Given the description of an element on the screen output the (x, y) to click on. 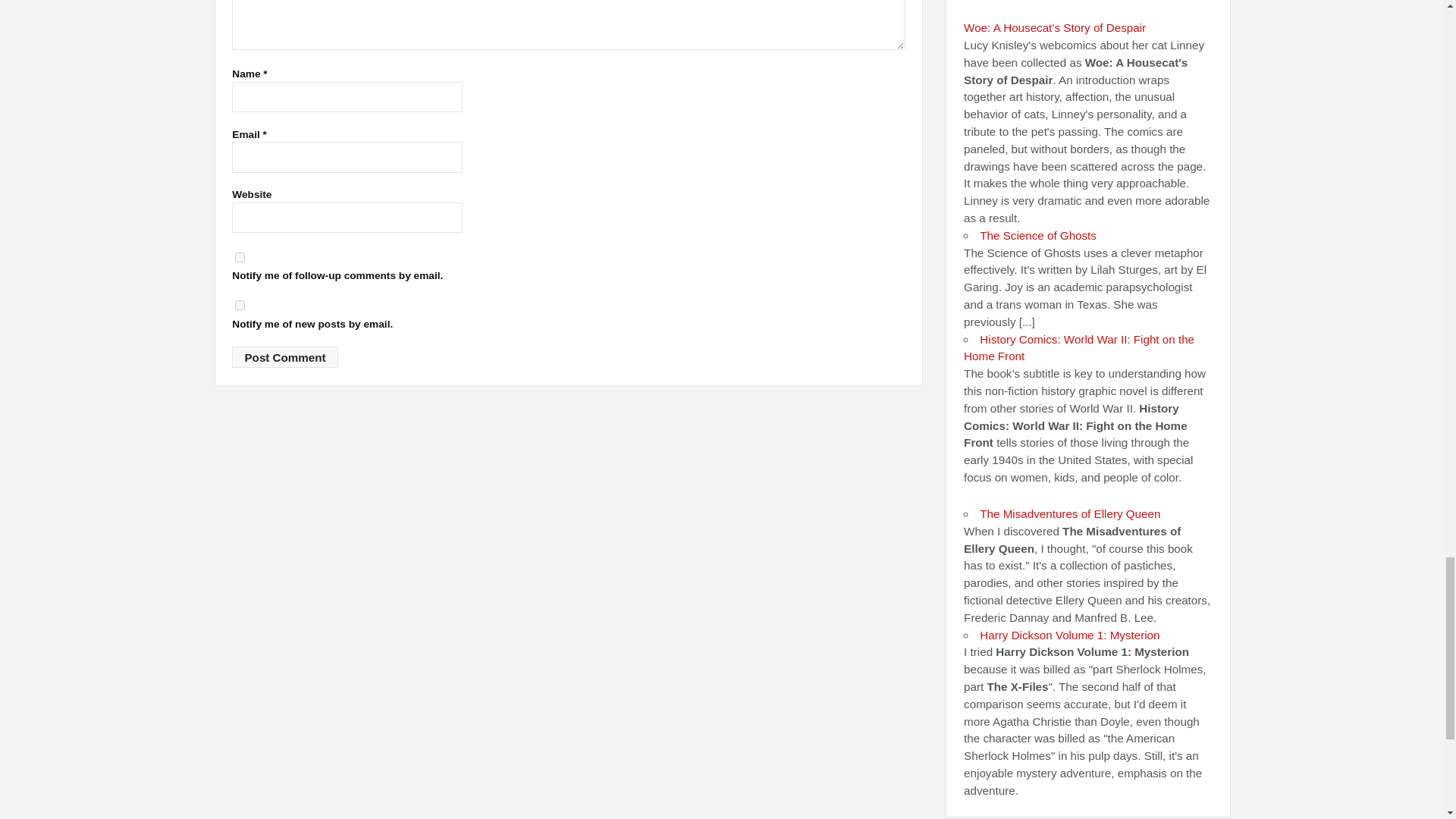
subscribe (239, 257)
Post Comment (284, 356)
subscribe (239, 305)
